Given the description of an element on the screen output the (x, y) to click on. 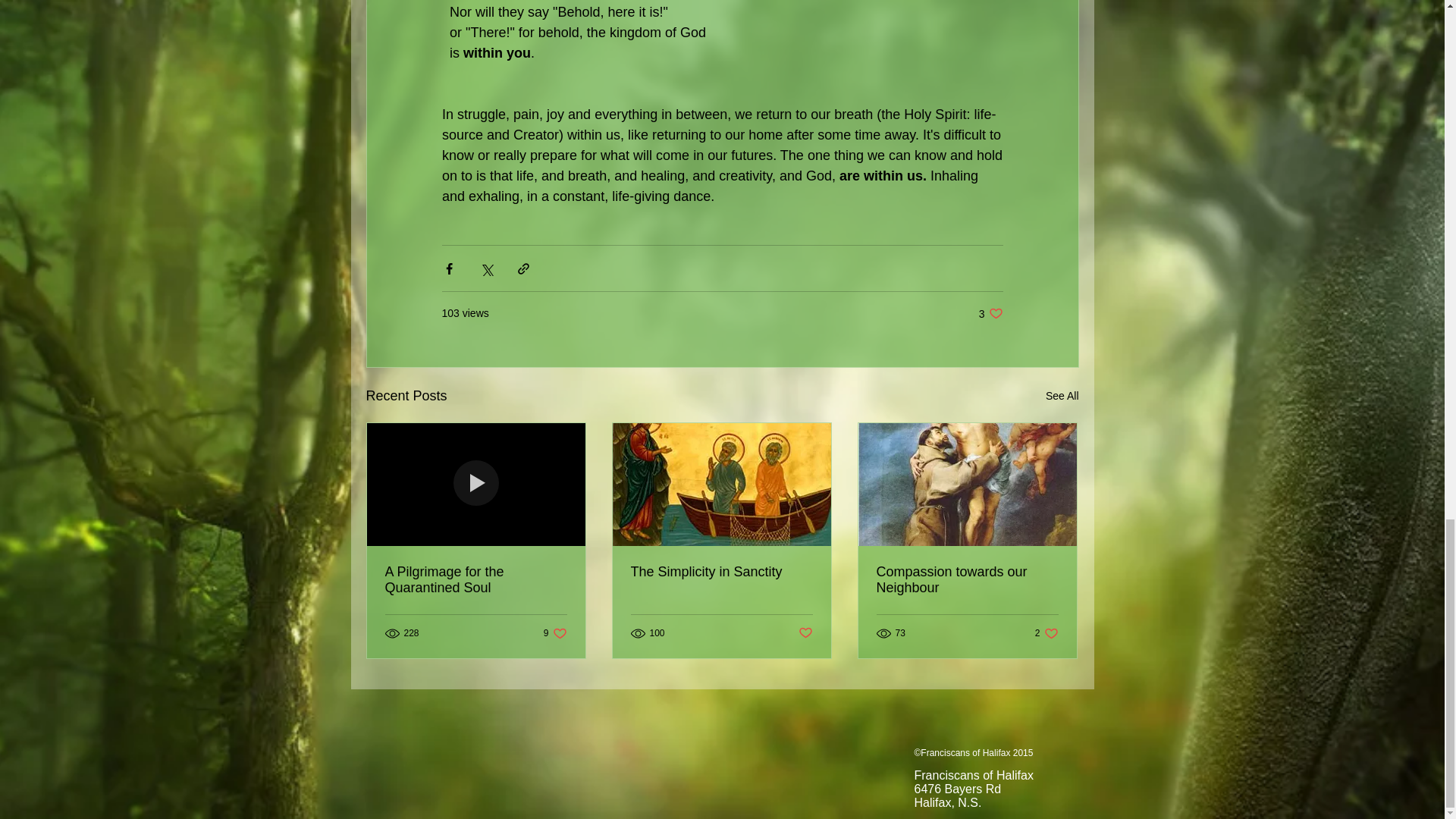
See All (1046, 633)
Post not marked as liked (990, 313)
Compassion towards our Neighbour (1061, 395)
The Simplicity in Sanctity (804, 633)
A Pilgrimage for the Quarantined Soul (555, 633)
